Given the description of an element on the screen output the (x, y) to click on. 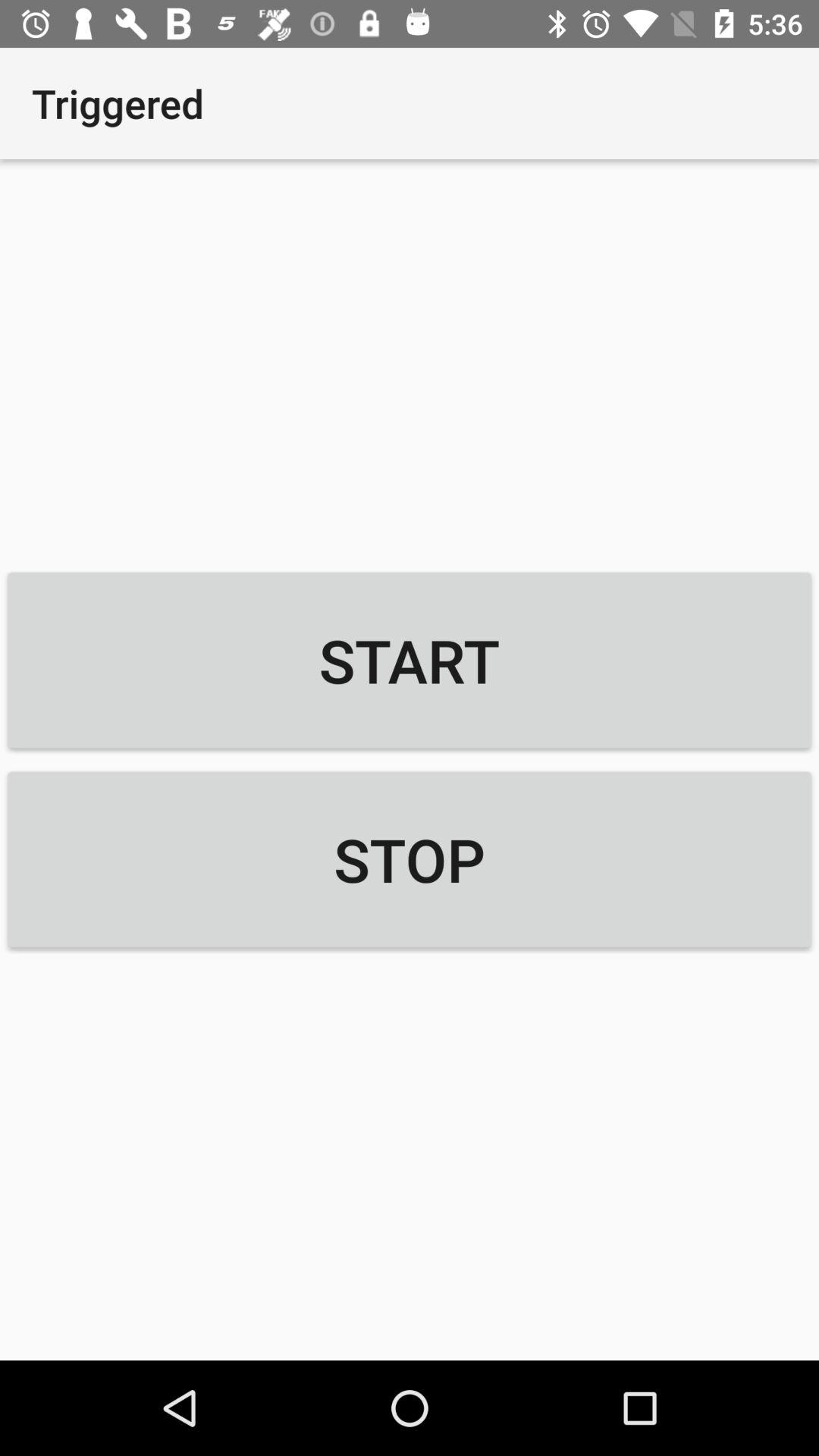
click icon above stop (409, 659)
